Given the description of an element on the screen output the (x, y) to click on. 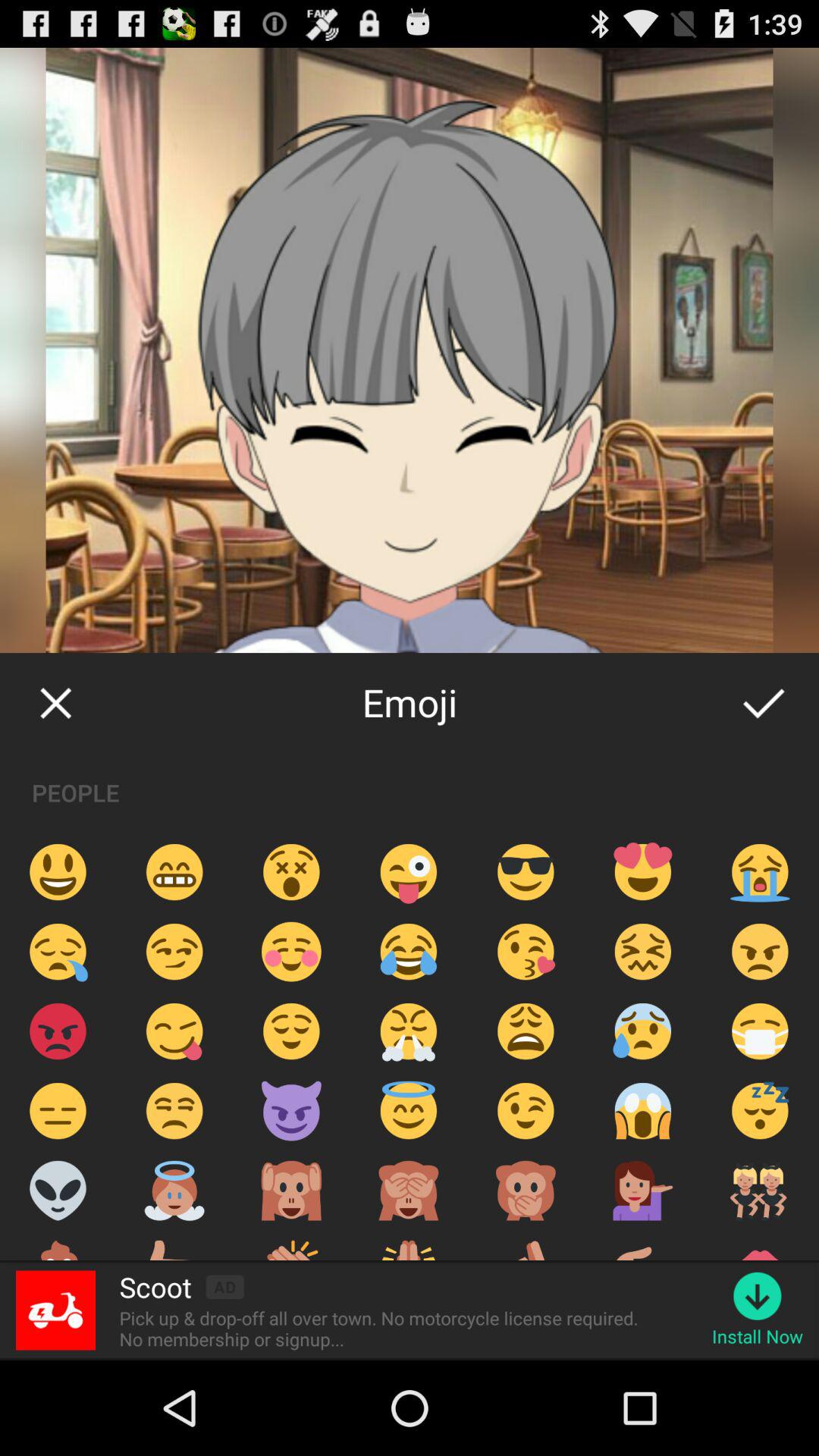
tap the app above the pick up drop (155, 1286)
